Given the description of an element on the screen output the (x, y) to click on. 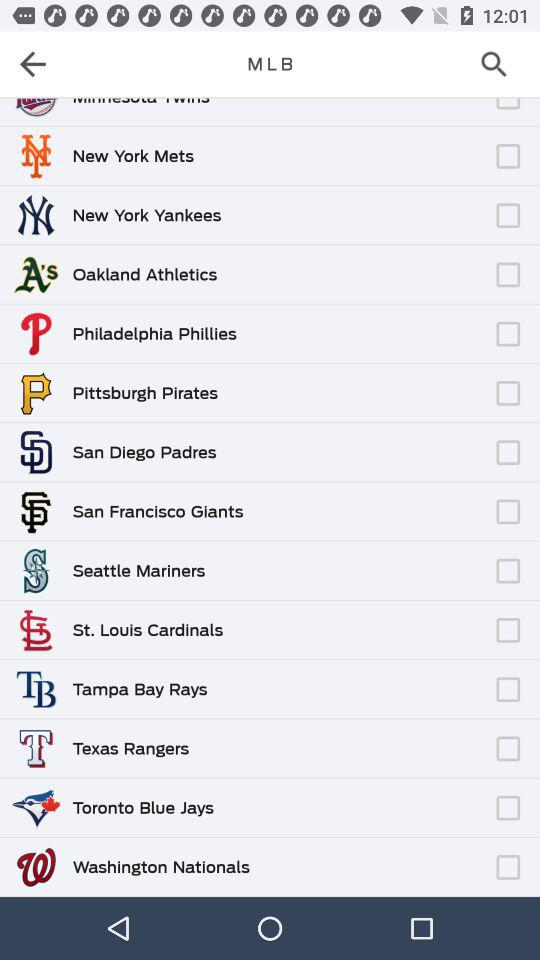
select texas rangers item (130, 748)
